Given the description of an element on the screen output the (x, y) to click on. 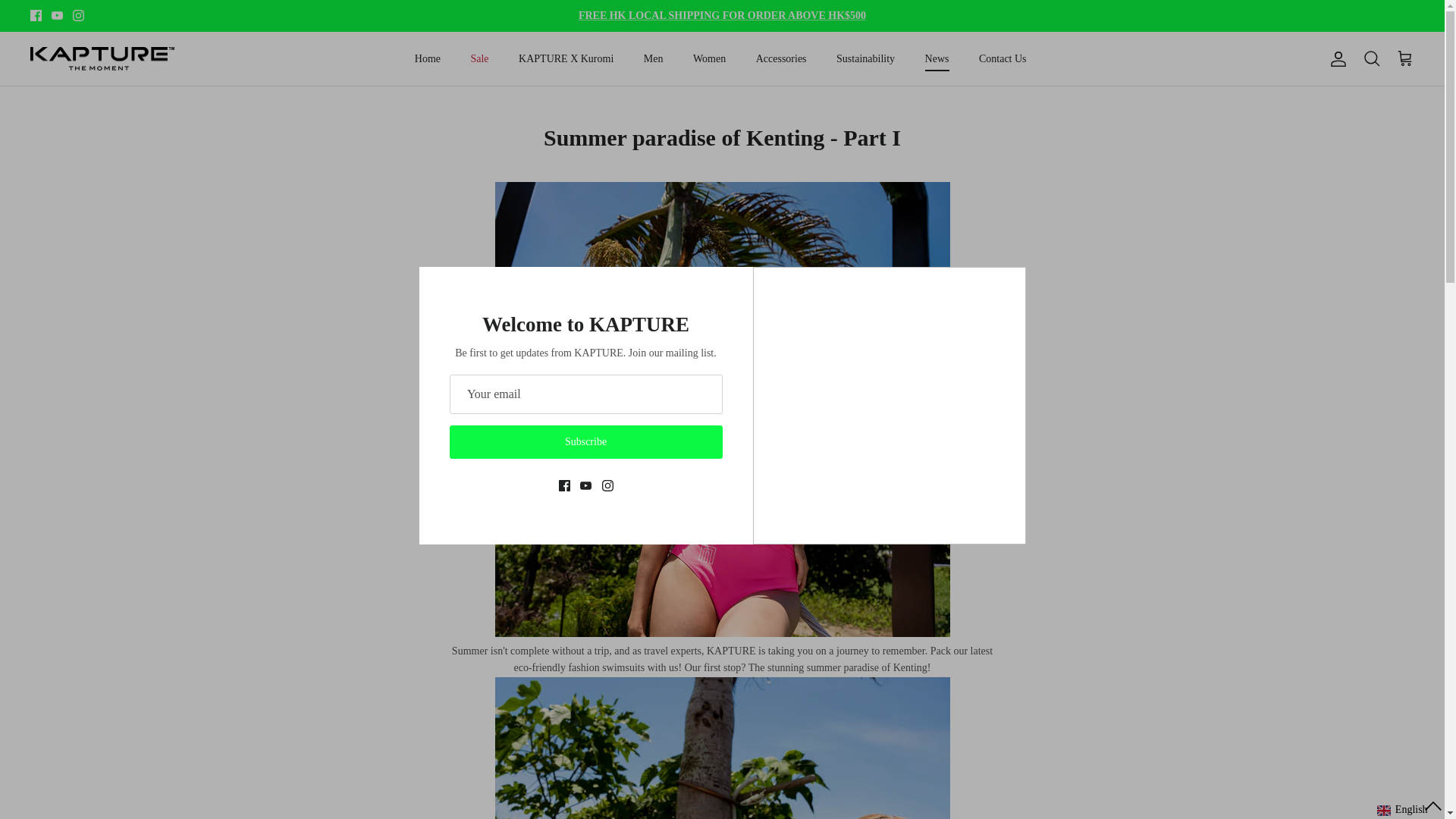
Sustainability (865, 58)
Home (427, 58)
Youtube (56, 15)
Contact Us (1003, 58)
Facebook (36, 15)
Women (709, 58)
News (936, 58)
Youtube (56, 15)
Shipping Policy (722, 15)
Accessories (781, 58)
Facebook (36, 15)
Kapture Travel (102, 58)
Account (1335, 58)
Cart (1404, 58)
Dayglow One Shoulder Recylced One Piece Swimsuit (722, 633)
